Given the description of an element on the screen output the (x, y) to click on. 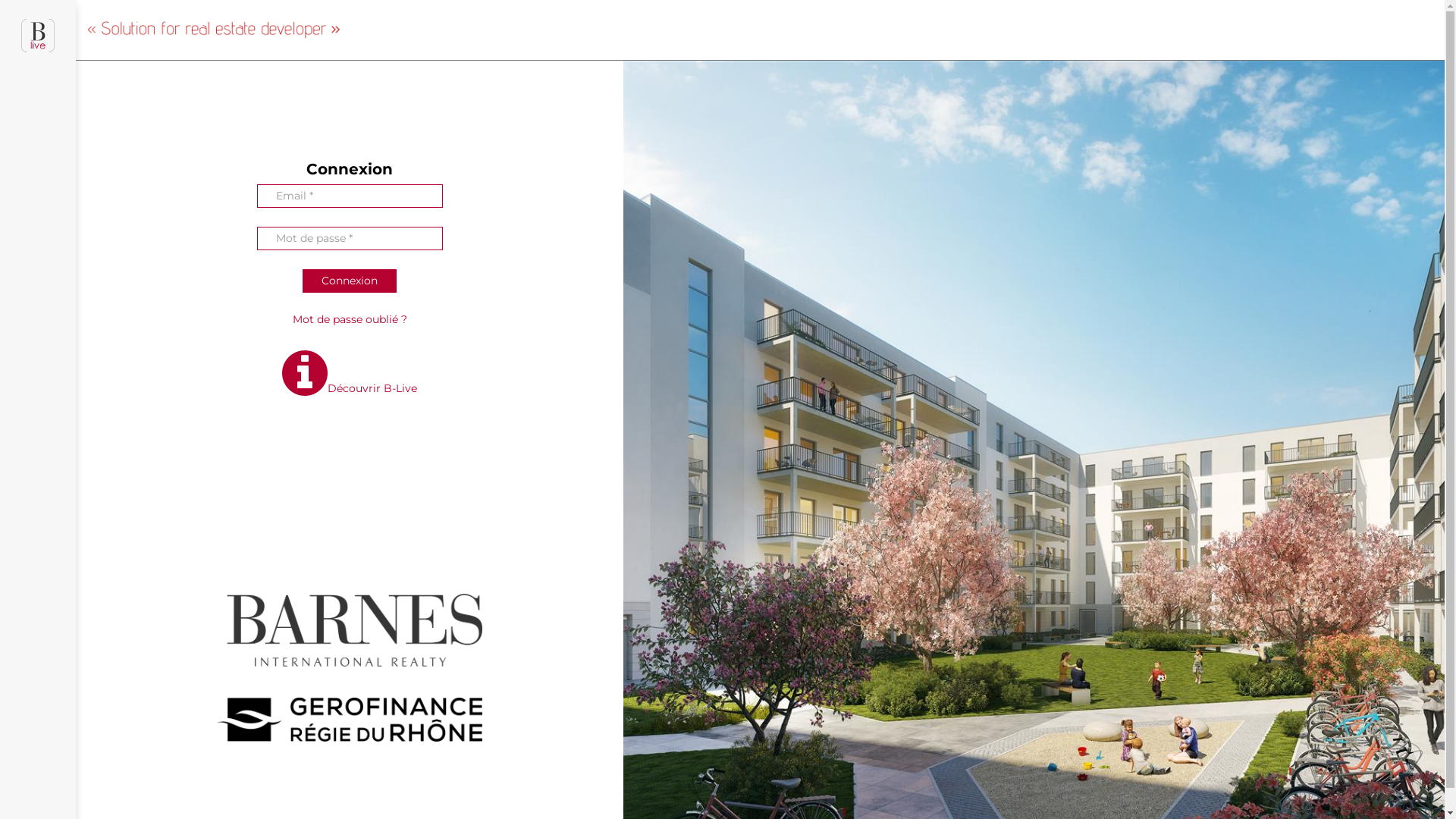
Connexion Element type: text (349, 280)
B-Live Element type: hover (37, 42)
